Given the description of an element on the screen output the (x, y) to click on. 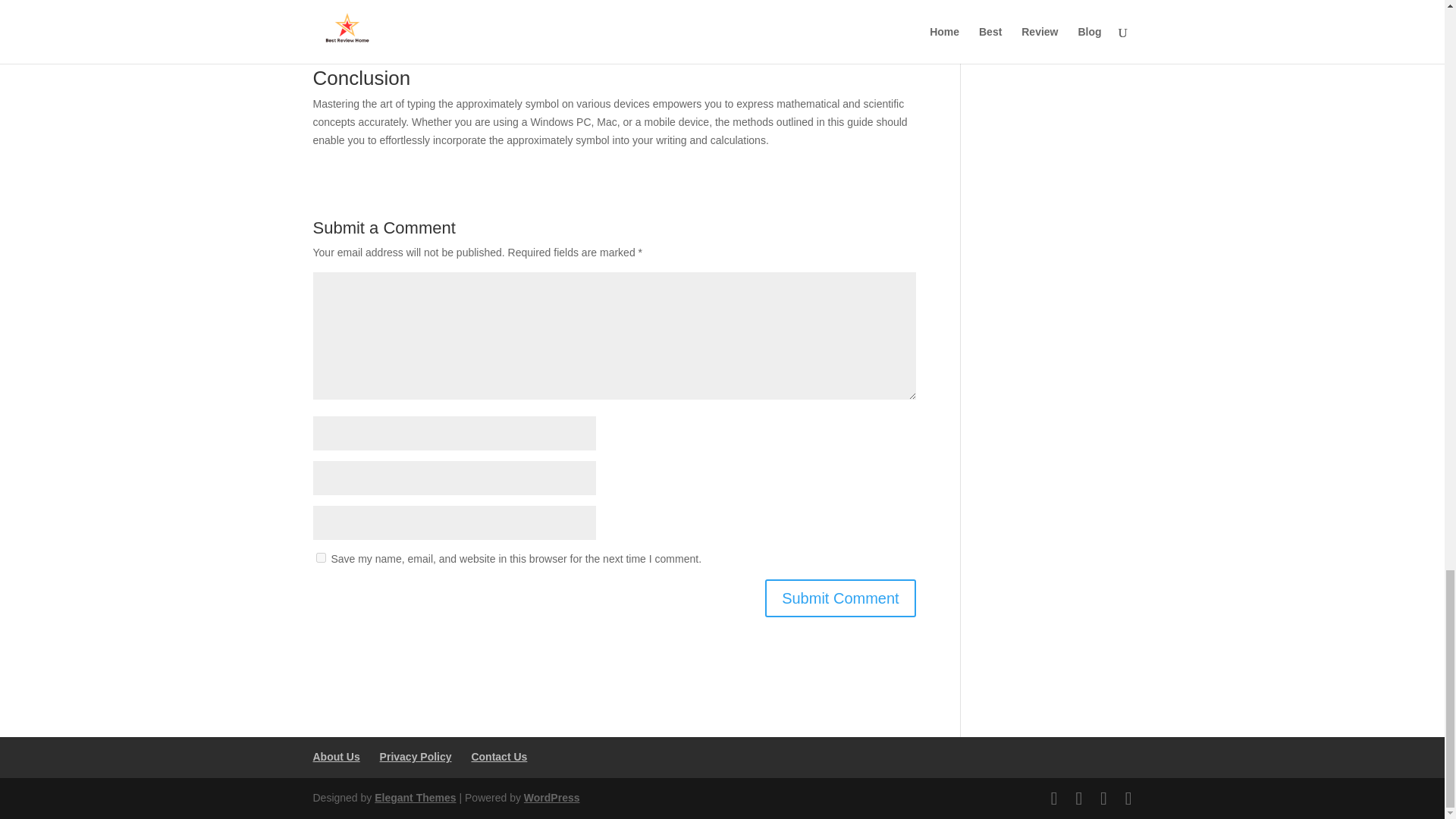
Premium WordPress Themes (414, 797)
Contact Us (498, 756)
Submit Comment (840, 598)
Privacy Policy (415, 756)
yes (319, 557)
About Us (336, 756)
Elegant Themes (414, 797)
Submit Comment (840, 598)
WordPress (551, 797)
